Given the description of an element on the screen output the (x, y) to click on. 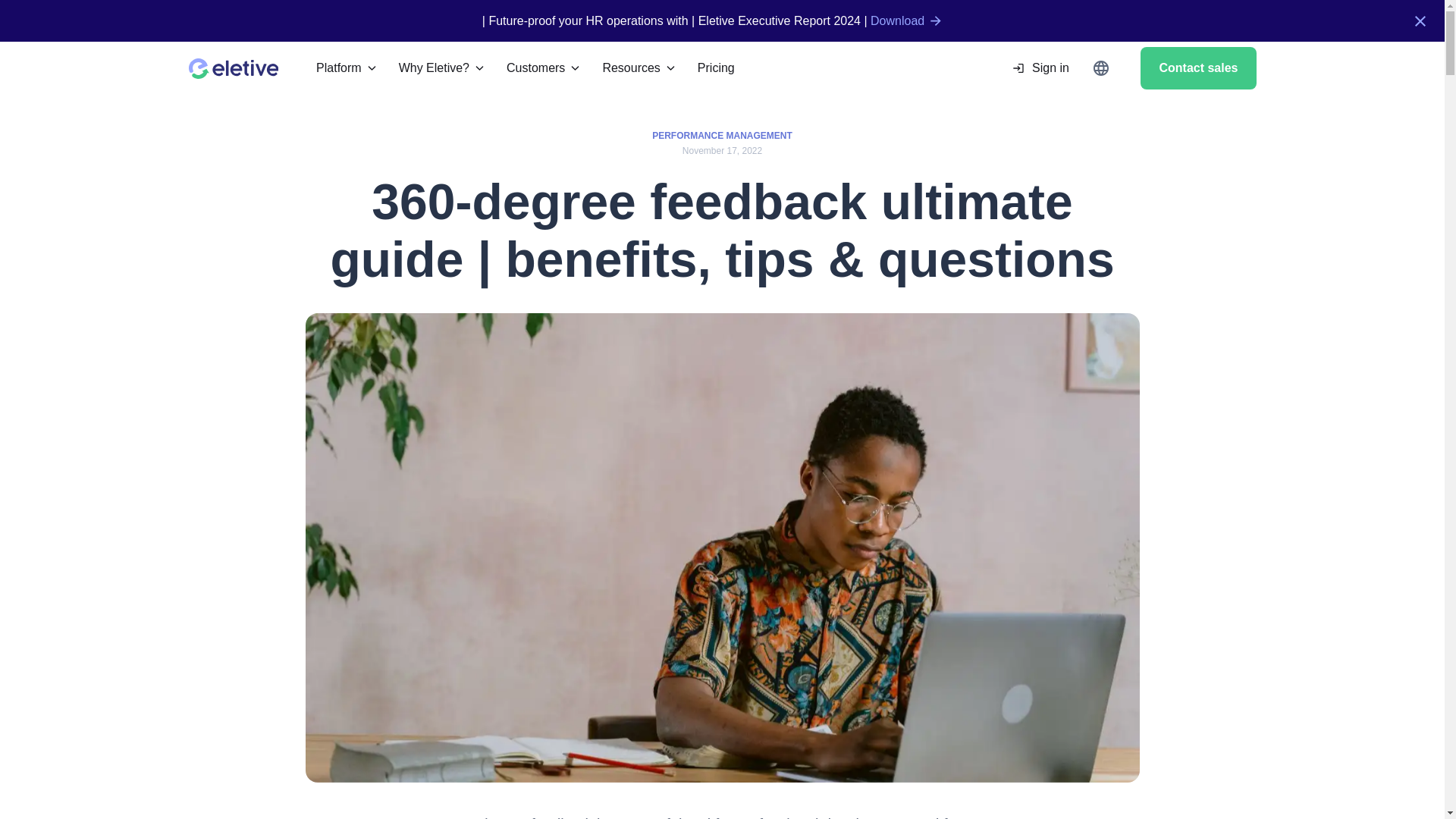
Contact sales (1197, 67)
Sign in (1037, 67)
Pricing (716, 67)
Download (906, 20)
